Given the description of an element on the screen output the (x, y) to click on. 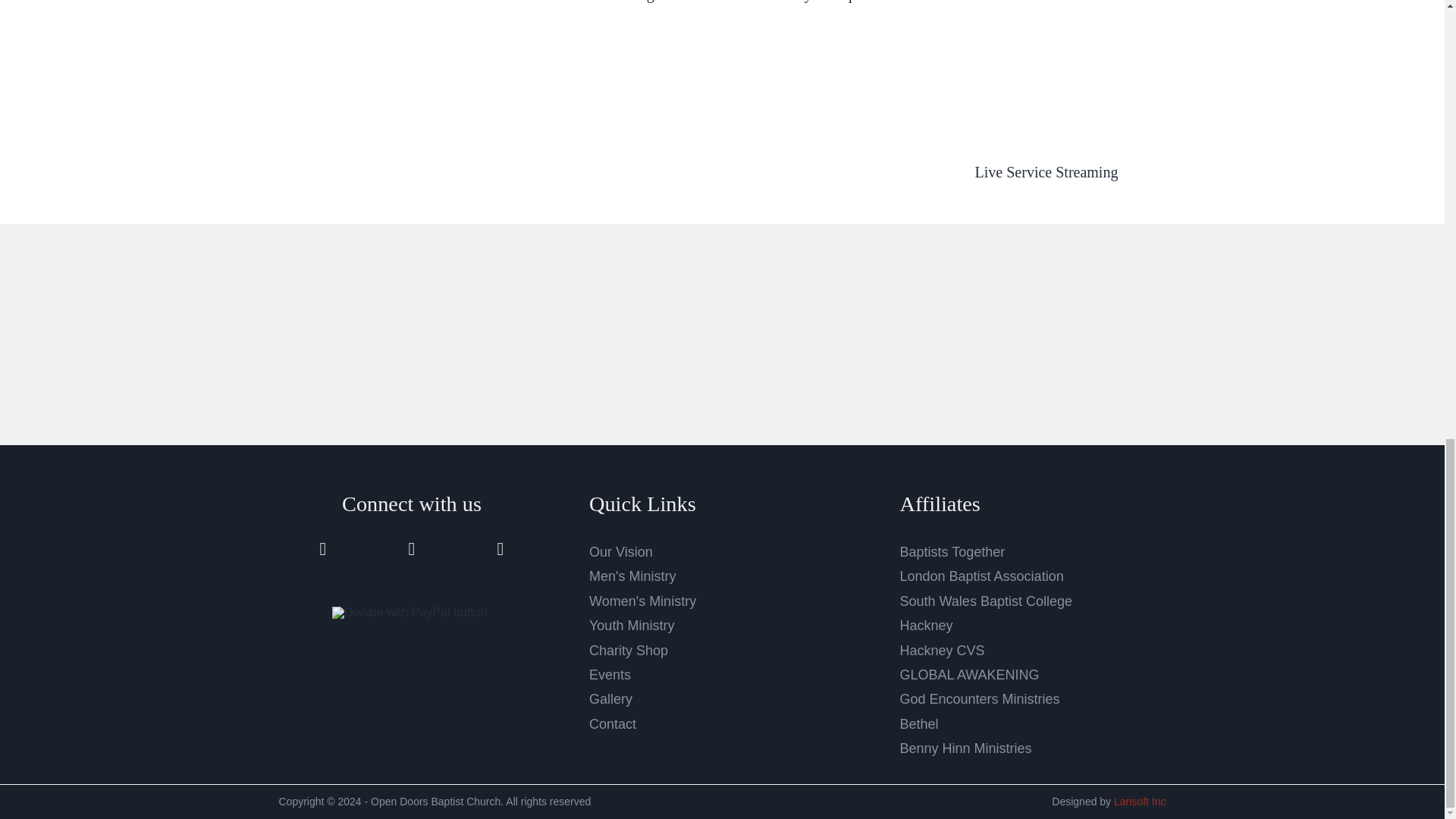
PayPal - The safer, easier way to pay online! (409, 612)
Women's Ministry (642, 600)
Men's Ministry (632, 576)
Youth Ministry (631, 625)
Our Vision (620, 551)
Live Service Streaming (1046, 171)
